Given the description of an element on the screen output the (x, y) to click on. 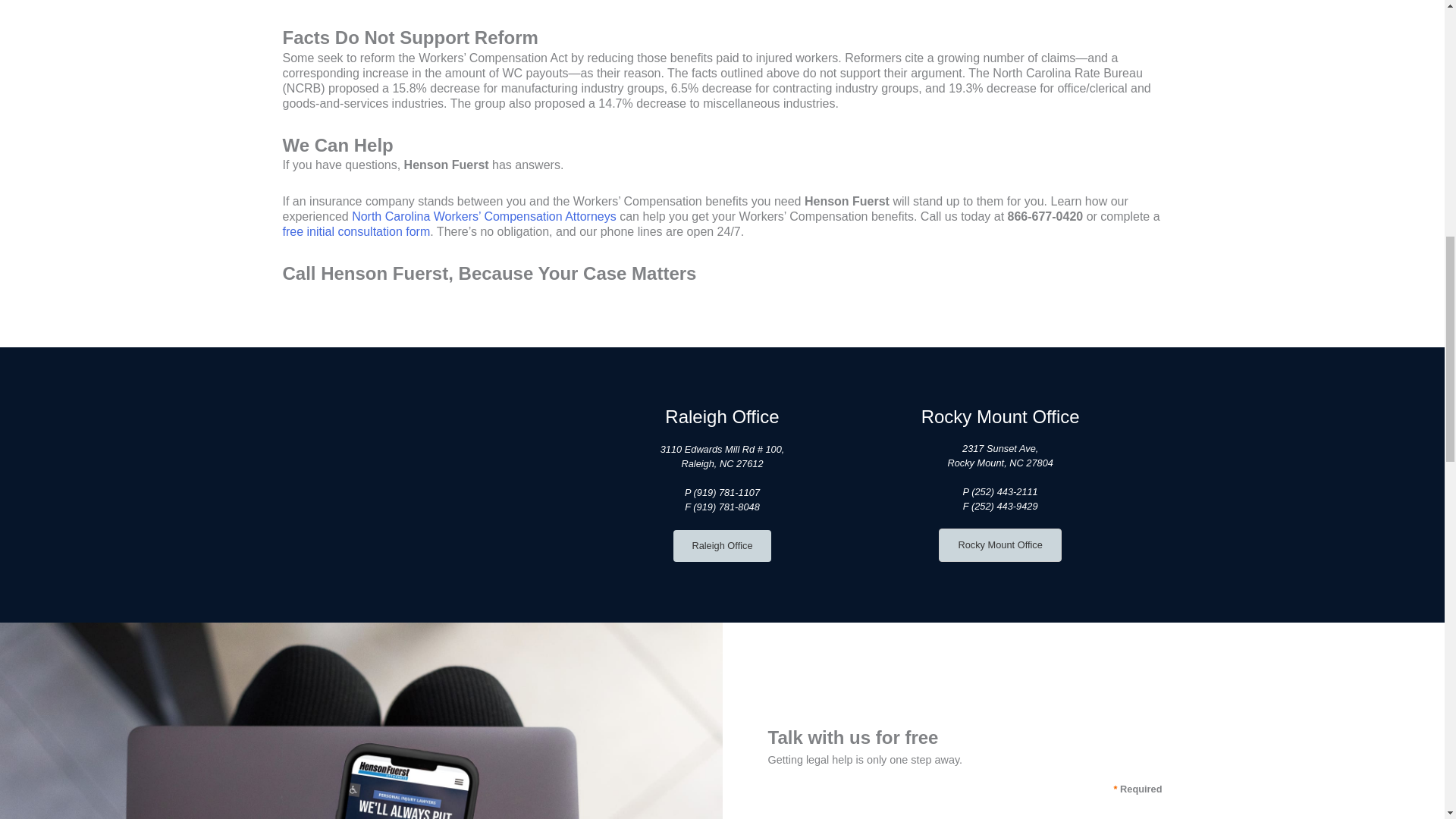
map-pin-icon-w (443, 484)
